Given the description of an element on the screen output the (x, y) to click on. 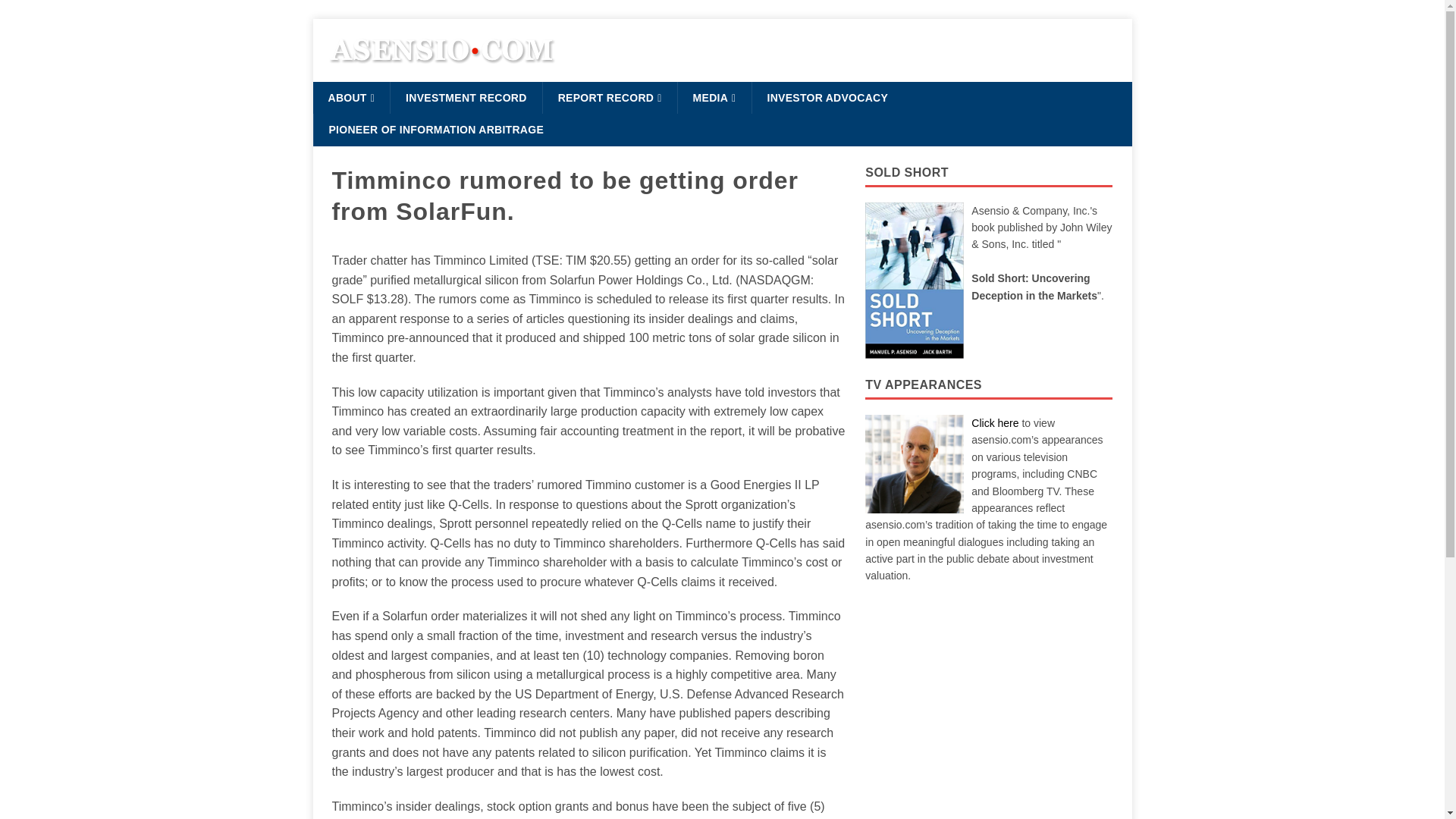
MEDIA (714, 97)
INVESTMENT RECORD (465, 97)
Asensio.com (441, 73)
PIONEER OF INFORMATION ARBITRAGE (436, 129)
INVESTOR ADVOCACY (827, 97)
ABOUT (351, 97)
REPORT RECORD (609, 97)
